Given the description of an element on the screen output the (x, y) to click on. 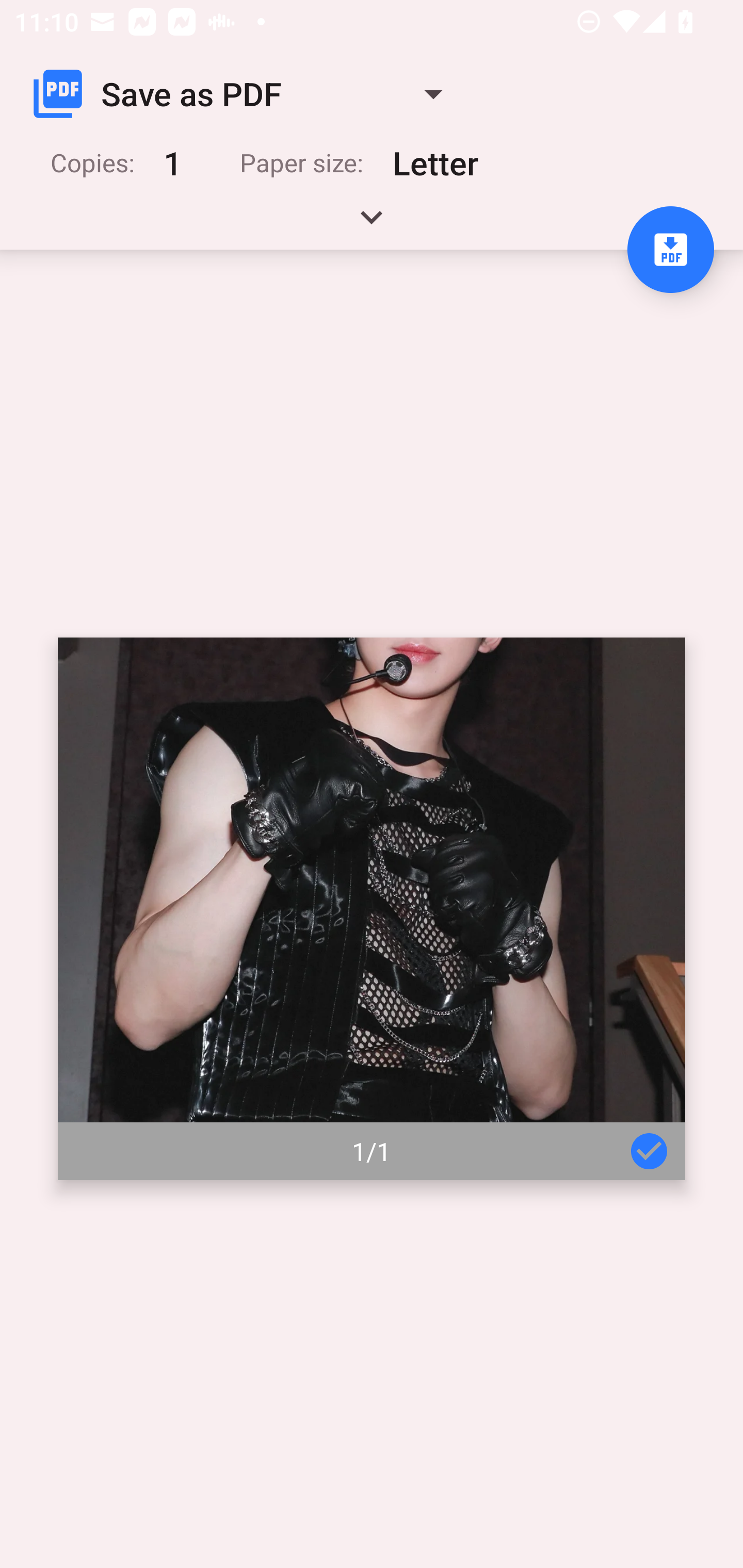
Save as PDF (245, 93)
Expand handle (371, 224)
Save to PDF (670, 249)
Page 1 of 1 1/1 (371, 909)
